Given the description of an element on the screen output the (x, y) to click on. 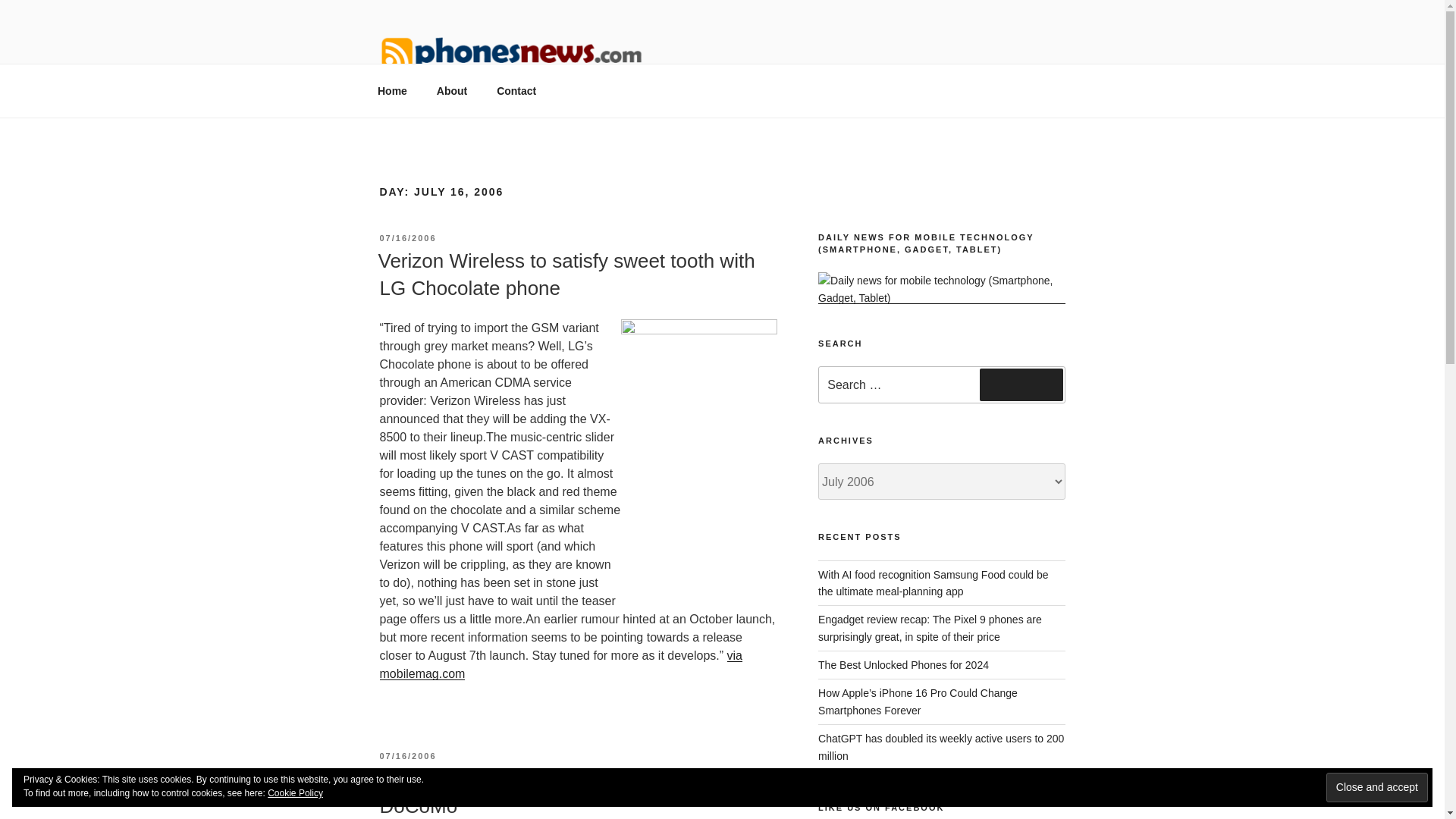
The Best Unlocked Phones for 2024 (903, 664)
Close and accept (1377, 787)
Close and accept (1377, 787)
PHONESNEWS.COM (528, 98)
Cookie Policy (295, 792)
Contact (516, 90)
About (451, 90)
ChatGPT has doubled its weekly active users to 200 million (941, 746)
